Given the description of an element on the screen output the (x, y) to click on. 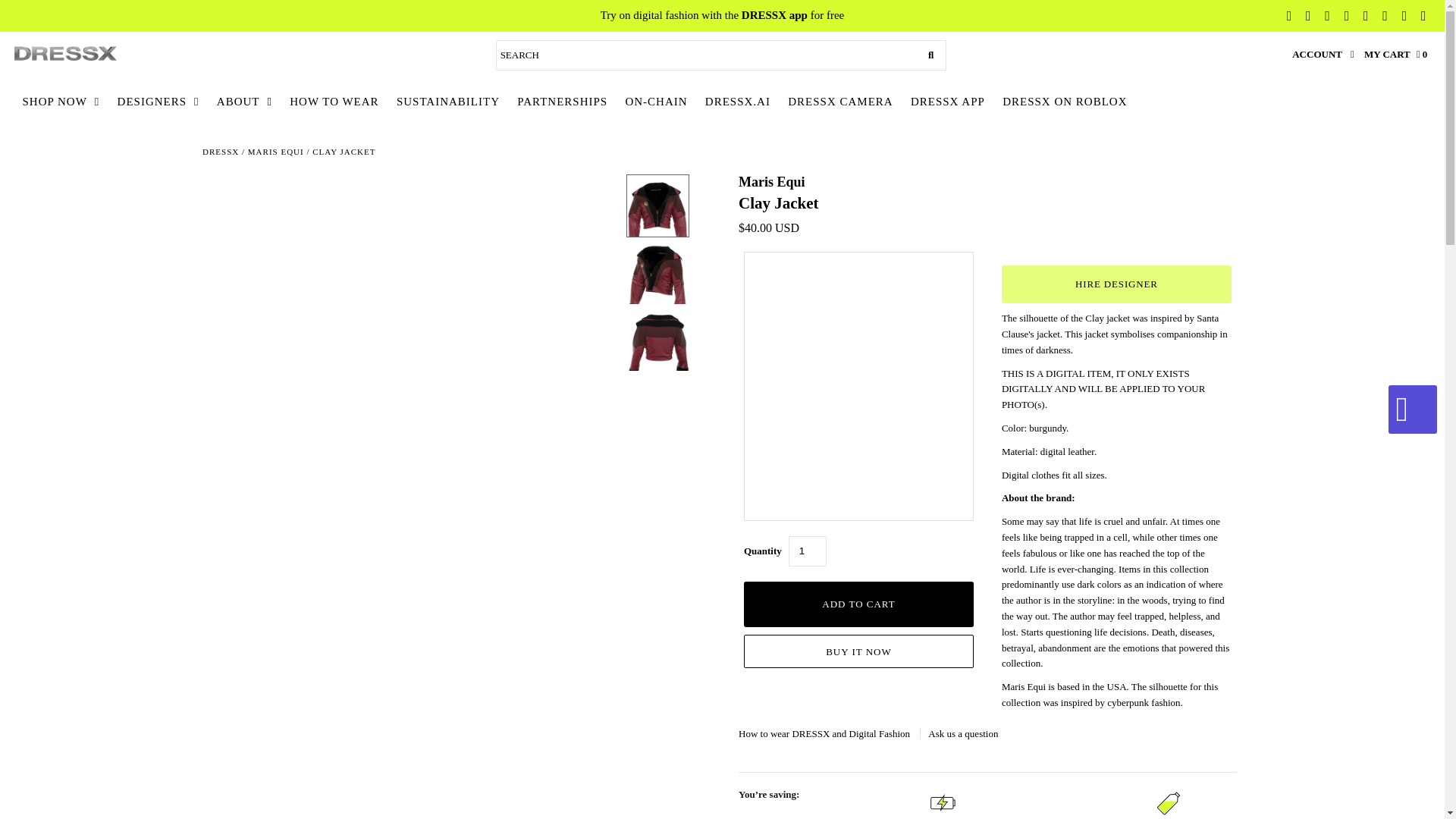
1 (808, 551)
Maris Equi (771, 181)
DressX (220, 151)
Add to Cart (859, 604)
